Given the description of an element on the screen output the (x, y) to click on. 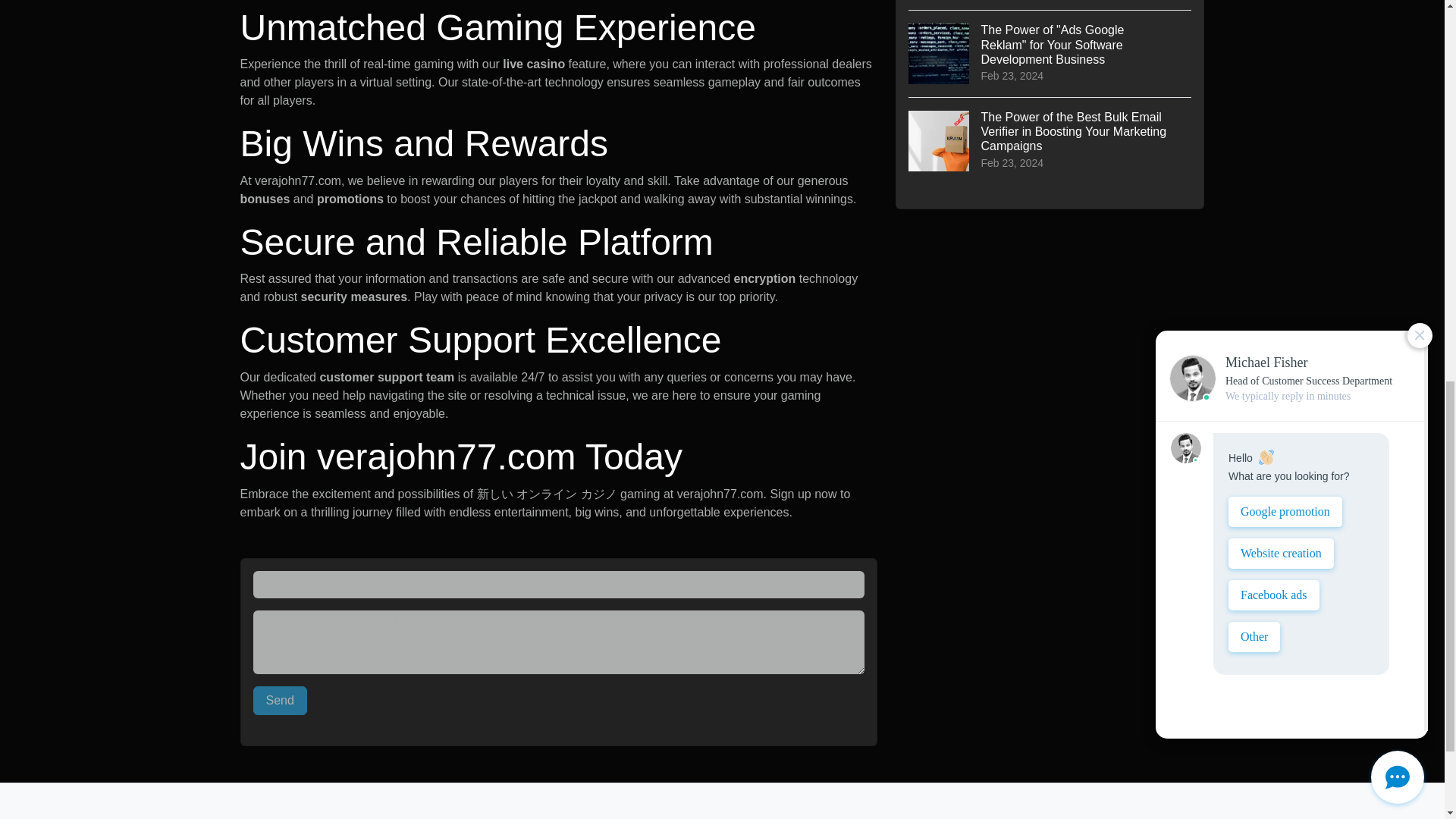
Send (280, 700)
Send (280, 700)
